Given the description of an element on the screen output the (x, y) to click on. 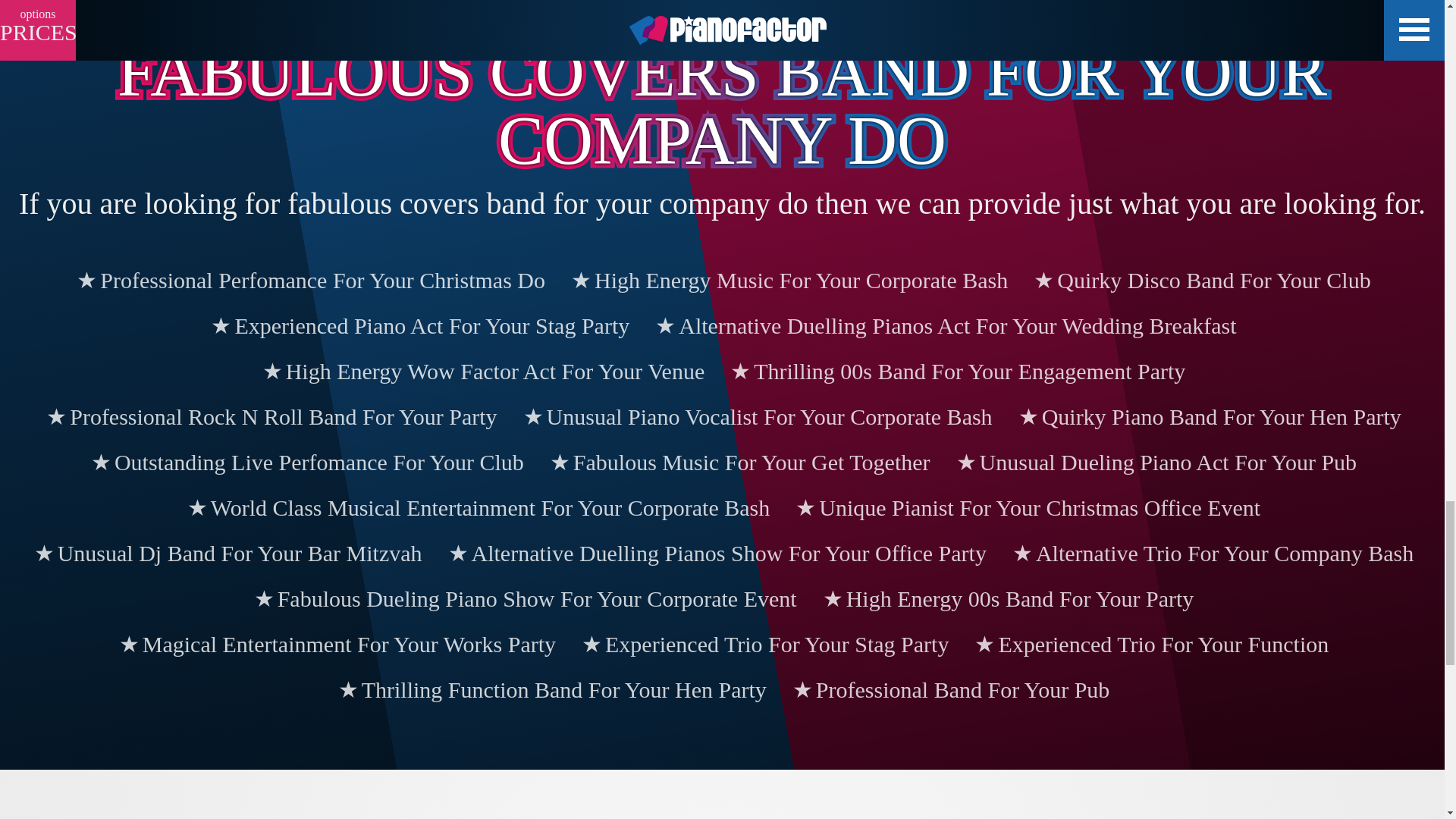
Alternative Trio For Your Company Bash (1211, 553)
Professional Perfomance For Your Christmas Do (309, 280)
Thrilling 00s Band For Your Engagement Party (956, 370)
quirky disco band for your club (1200, 280)
Outstanding Live Perfomance For Your Club (306, 462)
Experienced Trio For Your Stag Party (763, 644)
Experienced Piano Act For Your Stag Party (418, 325)
thrilling 00s band for your engagement party (956, 370)
Alternative Duelling Pianos Show For Your Office Party (715, 553)
World Class Musical Entertainment For Your Corporate Bash (477, 507)
